Given the description of an element on the screen output the (x, y) to click on. 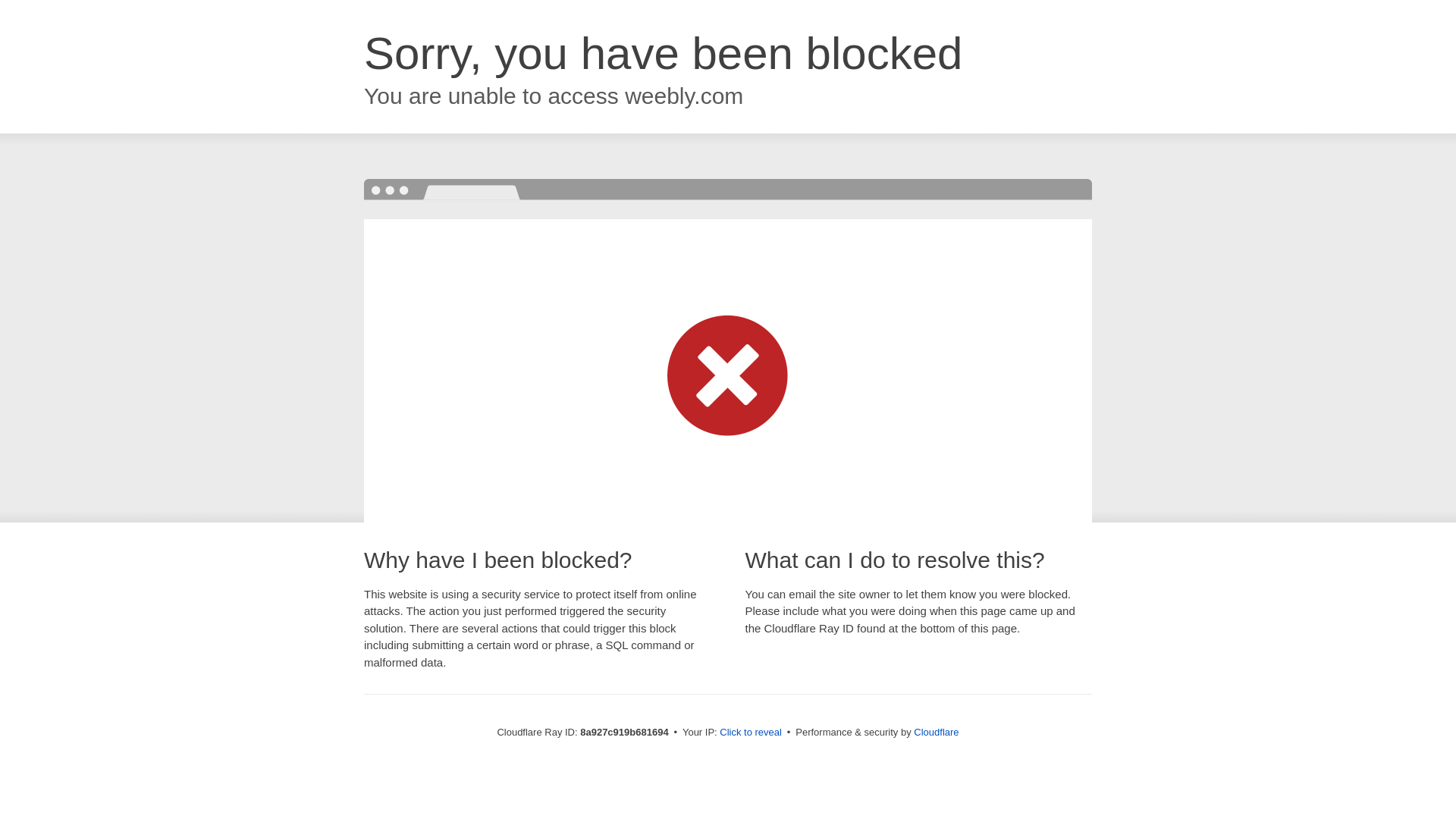
Cloudflare (936, 731)
Click to reveal (750, 732)
